Given the description of an element on the screen output the (x, y) to click on. 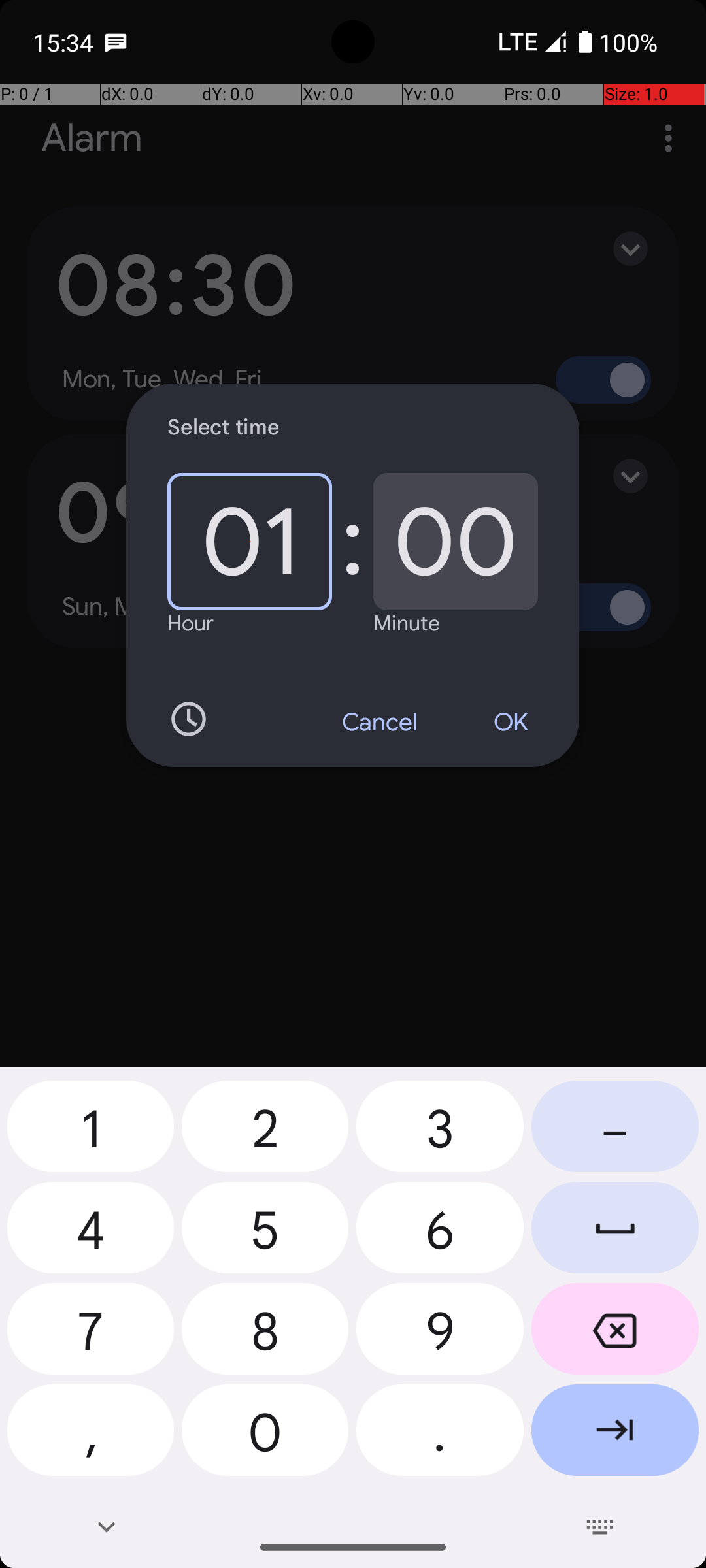
01 Element type: android.widget.EditText (249, 541)
Hour Element type: android.widget.TextView (190, 623)
Minute Element type: android.widget.TextView (406, 623)
Switch to clock mode for the time input. Element type: android.widget.Button (188, 719)
